Given the description of an element on the screen output the (x, y) to click on. 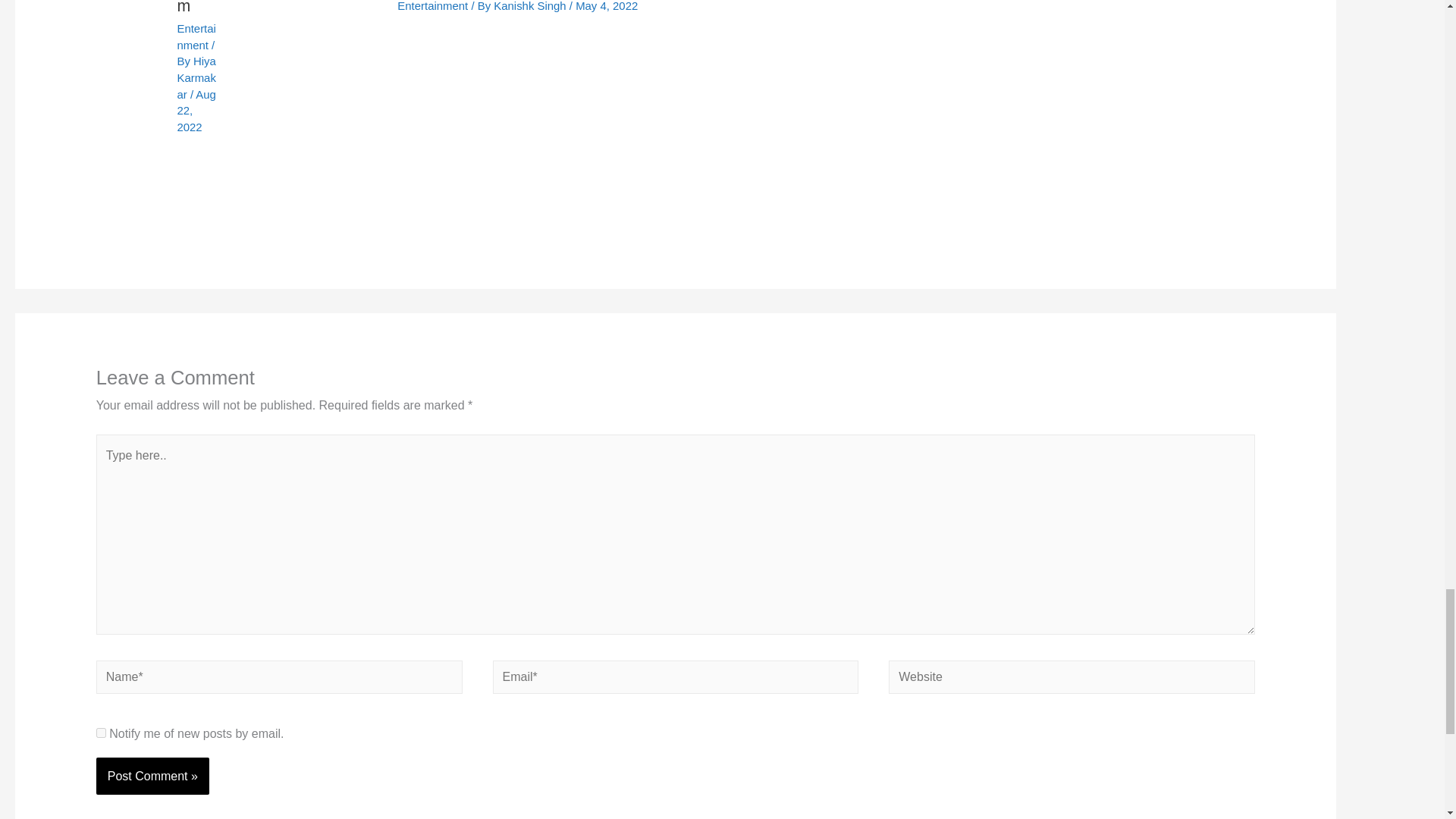
subscribe (101, 732)
View all posts by Kanishk Singh (531, 6)
